Given the description of an element on the screen output the (x, y) to click on. 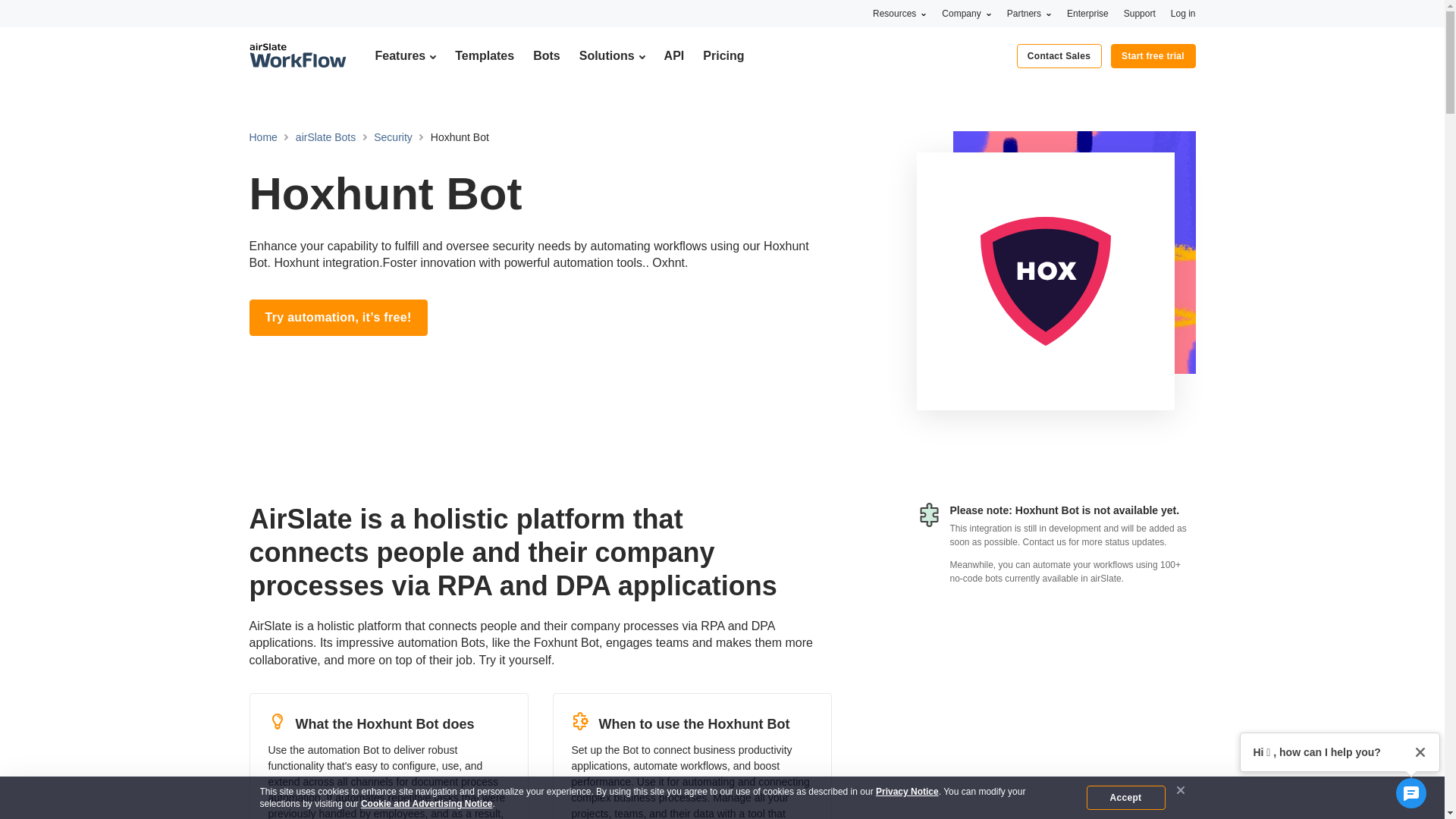
Company (966, 13)
Enterprise (1087, 13)
Templates (483, 55)
Support (1140, 13)
Log in (1182, 13)
Partners (1029, 13)
Resources (899, 13)
